Given the description of an element on the screen output the (x, y) to click on. 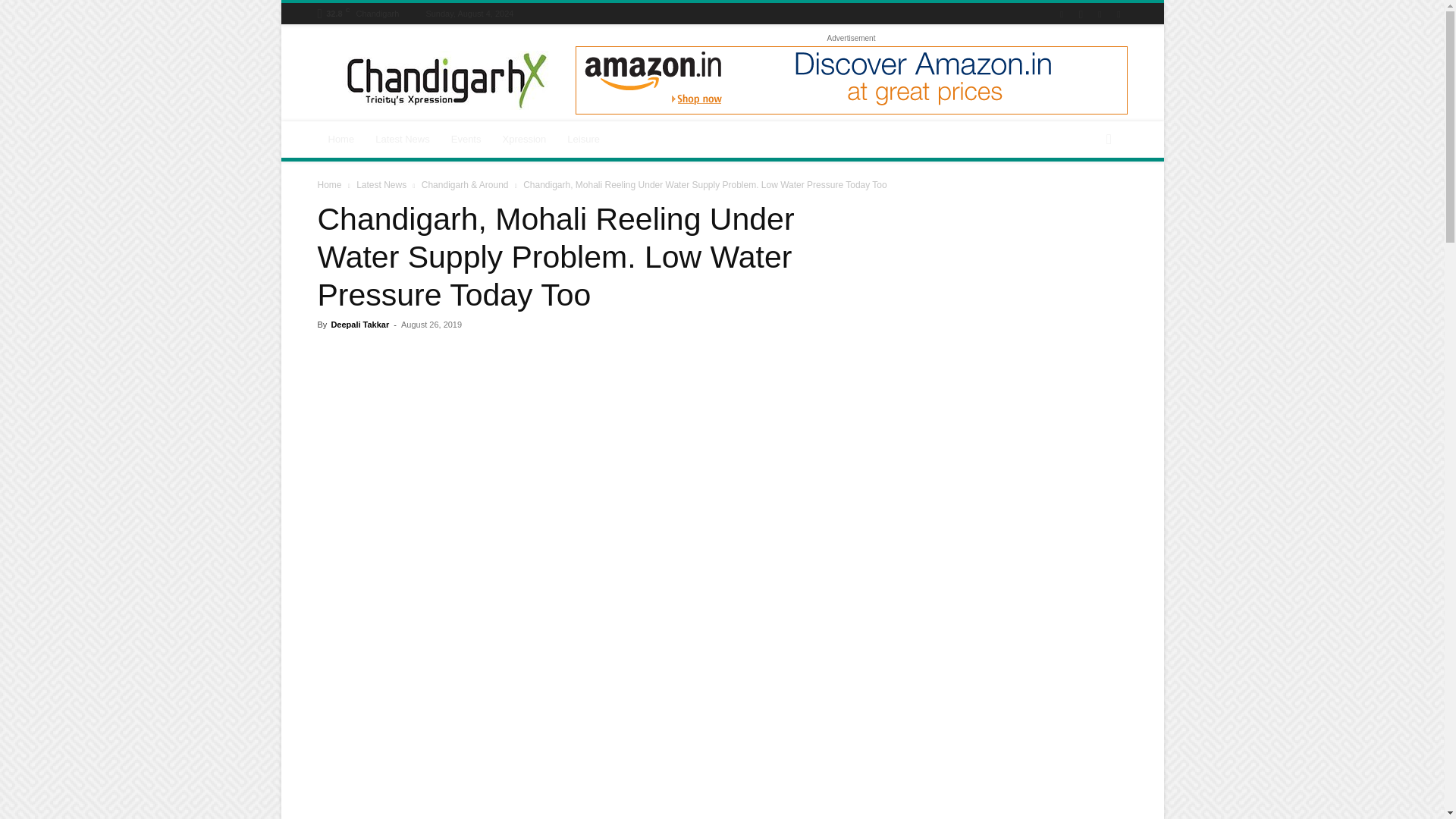
Home (341, 139)
Latest News (403, 139)
Events (466, 139)
